Given the description of an element on the screen output the (x, y) to click on. 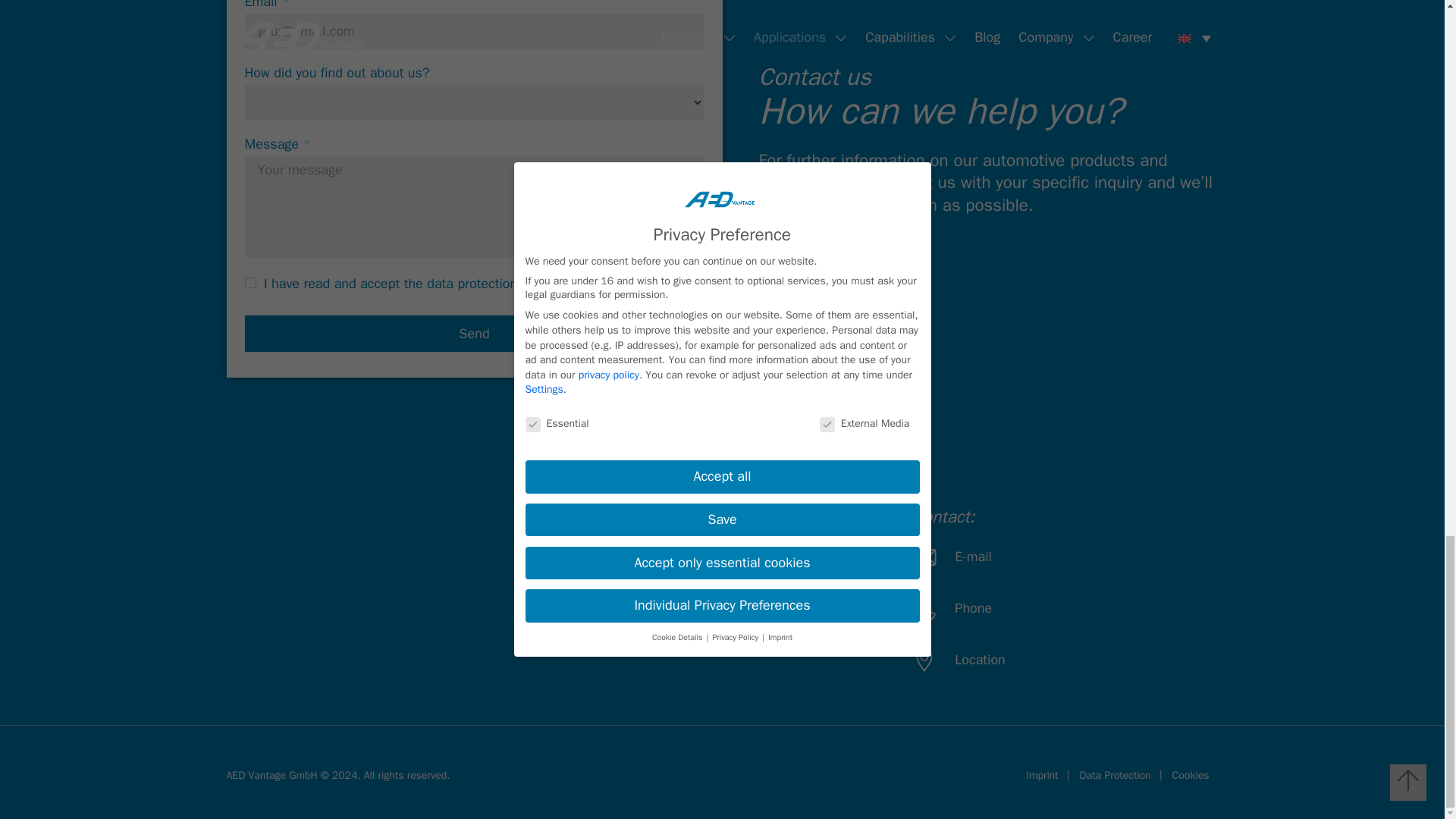
AED Vantage (284, 534)
AED Vantage (780, 608)
E-mail (1017, 557)
AED Vantage (780, 557)
Phone (1017, 608)
I have read and accept the data protection (250, 282)
Location (1017, 660)
